Given the description of an element on the screen output the (x, y) to click on. 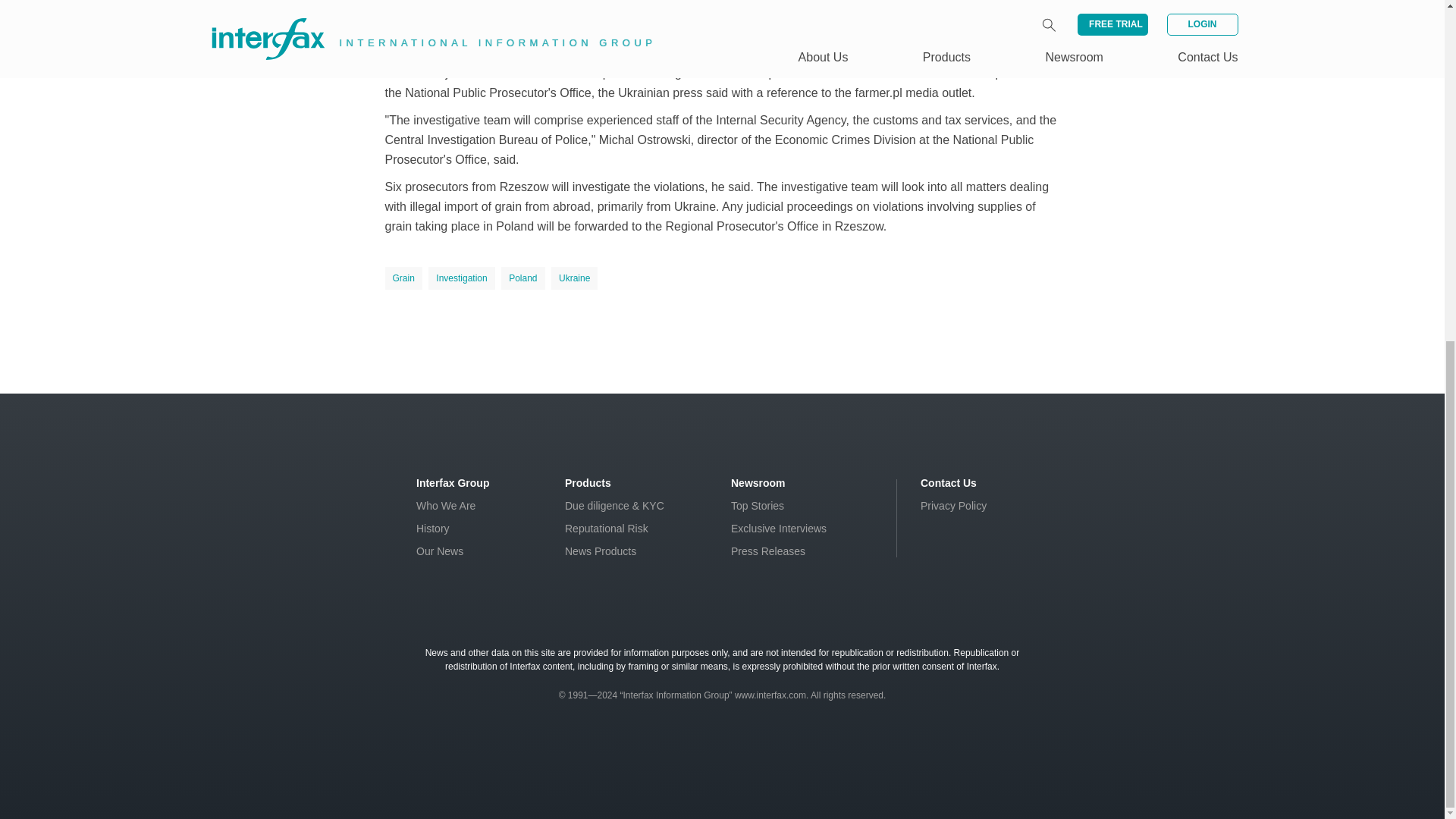
Poland (522, 277)
Grain (403, 277)
Investigation (461, 277)
Ukraine (573, 277)
